Given the description of an element on the screen output the (x, y) to click on. 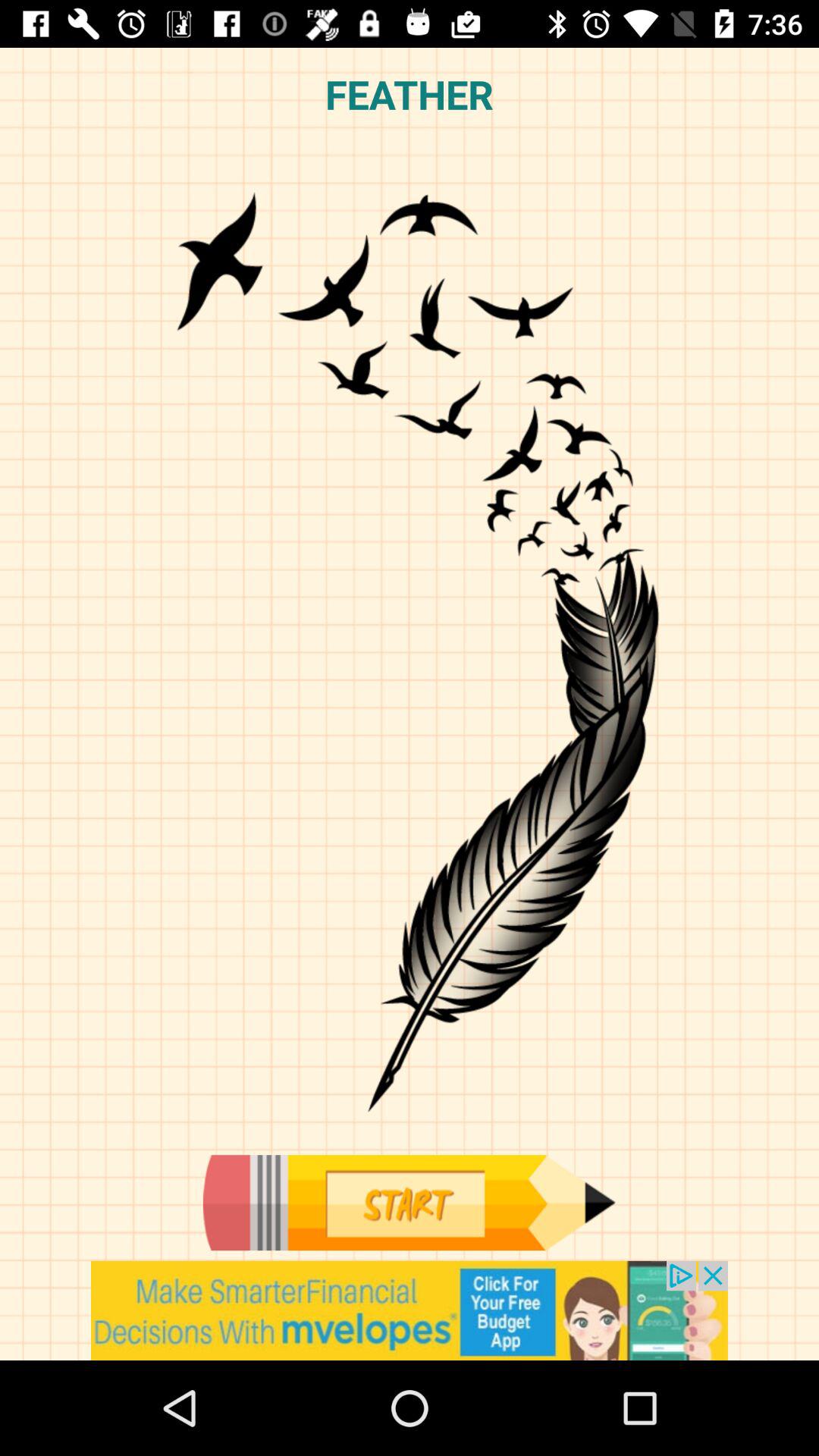
colors print (409, 1202)
